Given the description of an element on the screen output the (x, y) to click on. 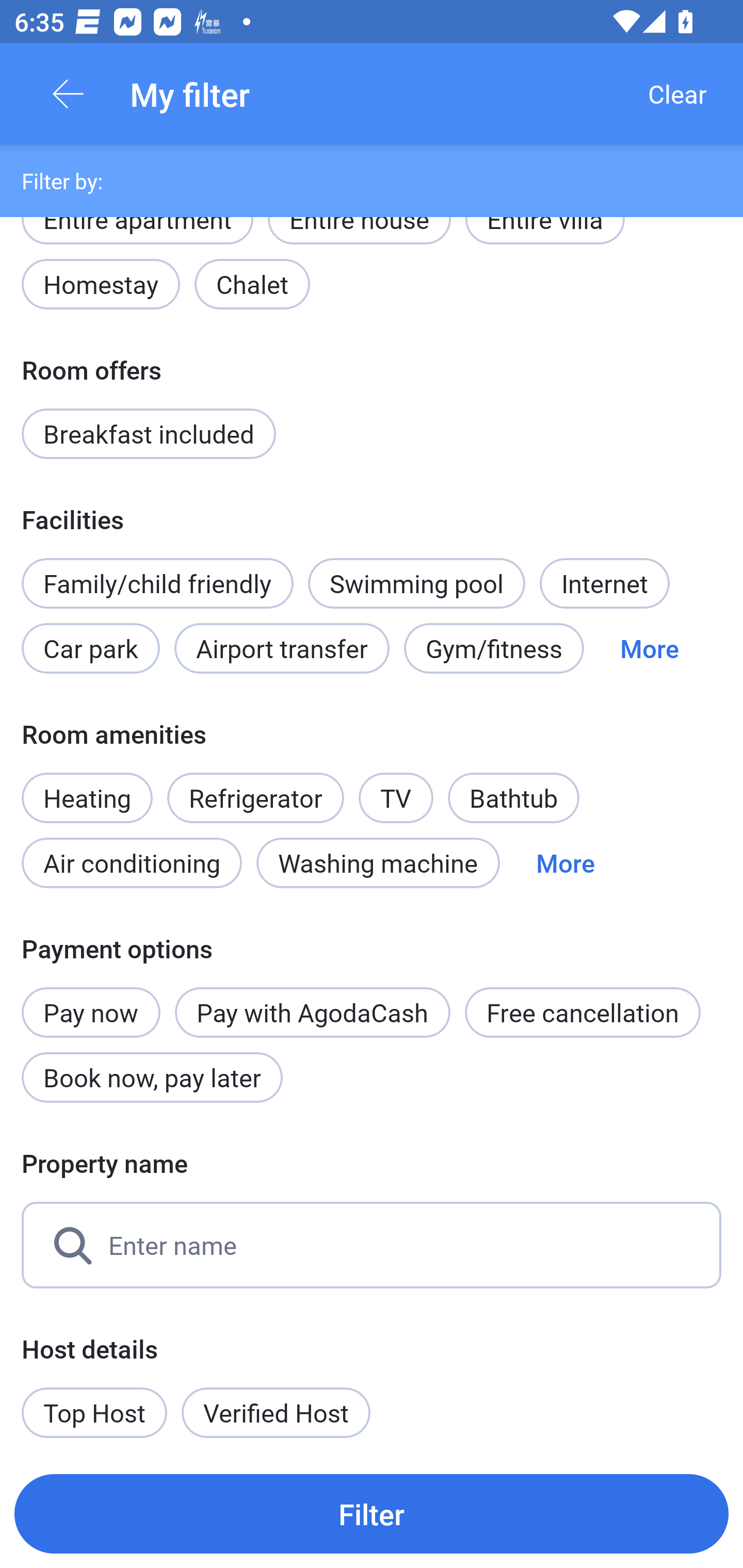
Clear (676, 93)
Homestay (100, 284)
Chalet (251, 284)
Breakfast included (148, 433)
Family/child friendly (157, 583)
Swimming pool (416, 583)
Internet (604, 583)
Car park (90, 648)
Airport transfer (281, 648)
Gym/fitness (493, 648)
More (649, 648)
Heating (87, 787)
Refrigerator (255, 798)
TV (395, 787)
Bathtub (513, 798)
Air conditioning (131, 863)
Washing machine (378, 863)
More (565, 863)
Pay now (90, 1001)
Pay with AgodaCash (312, 1012)
Free cancellation (582, 1012)
Book now, pay later (152, 1077)
Enter name (371, 1244)
Top Host (94, 1412)
Verified Host (275, 1412)
Filter (371, 1513)
